Given the description of an element on the screen output the (x, y) to click on. 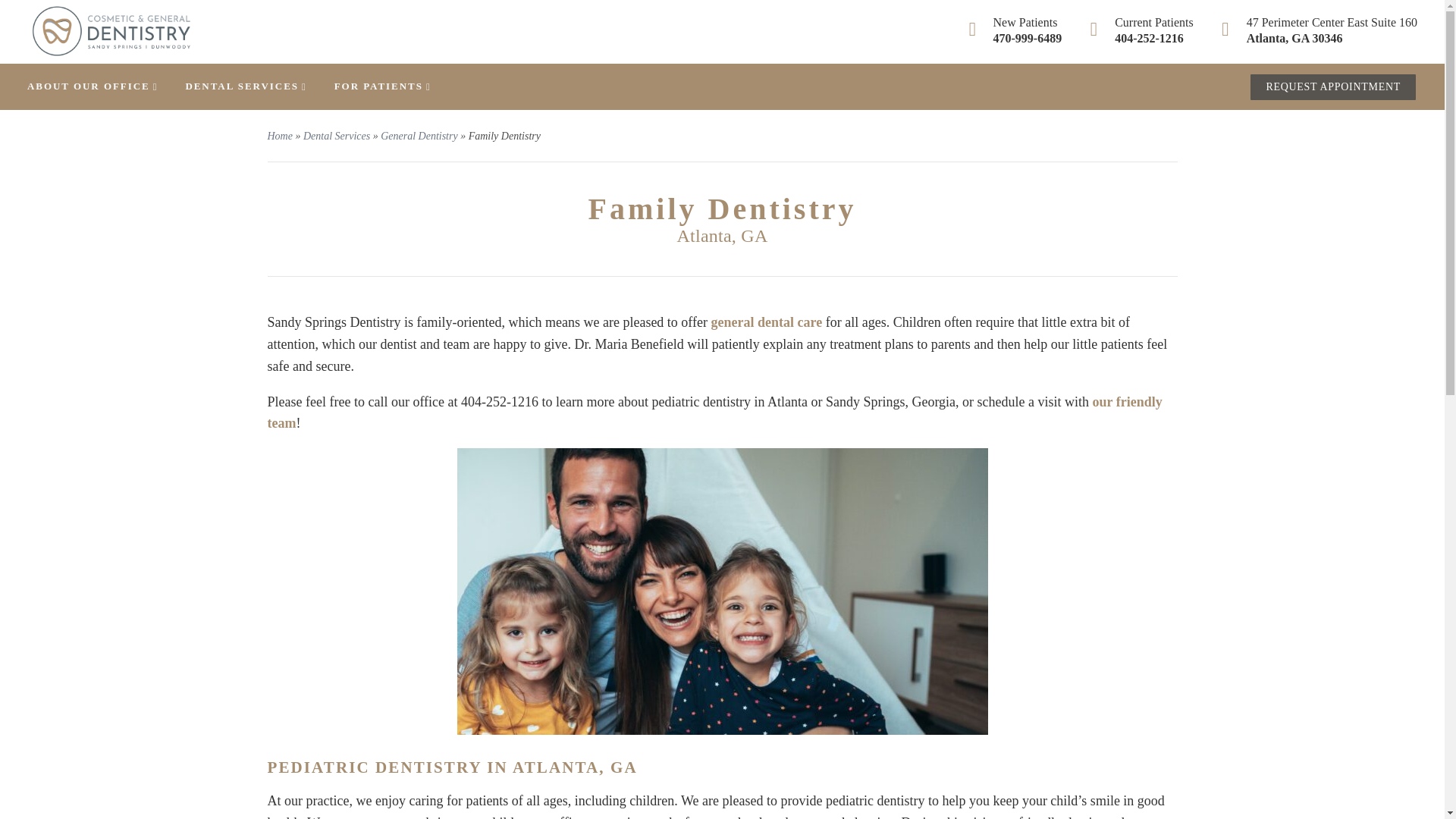
Home (279, 135)
general dental care (766, 322)
General Dentistry (418, 135)
REQUEST APPOINTMENT (1332, 86)
ABOUT OUR OFFICE (92, 85)
Dental Services (335, 135)
DENTAL SERVICES (244, 85)
FOR PATIENTS (382, 85)
